Given the description of an element on the screen output the (x, y) to click on. 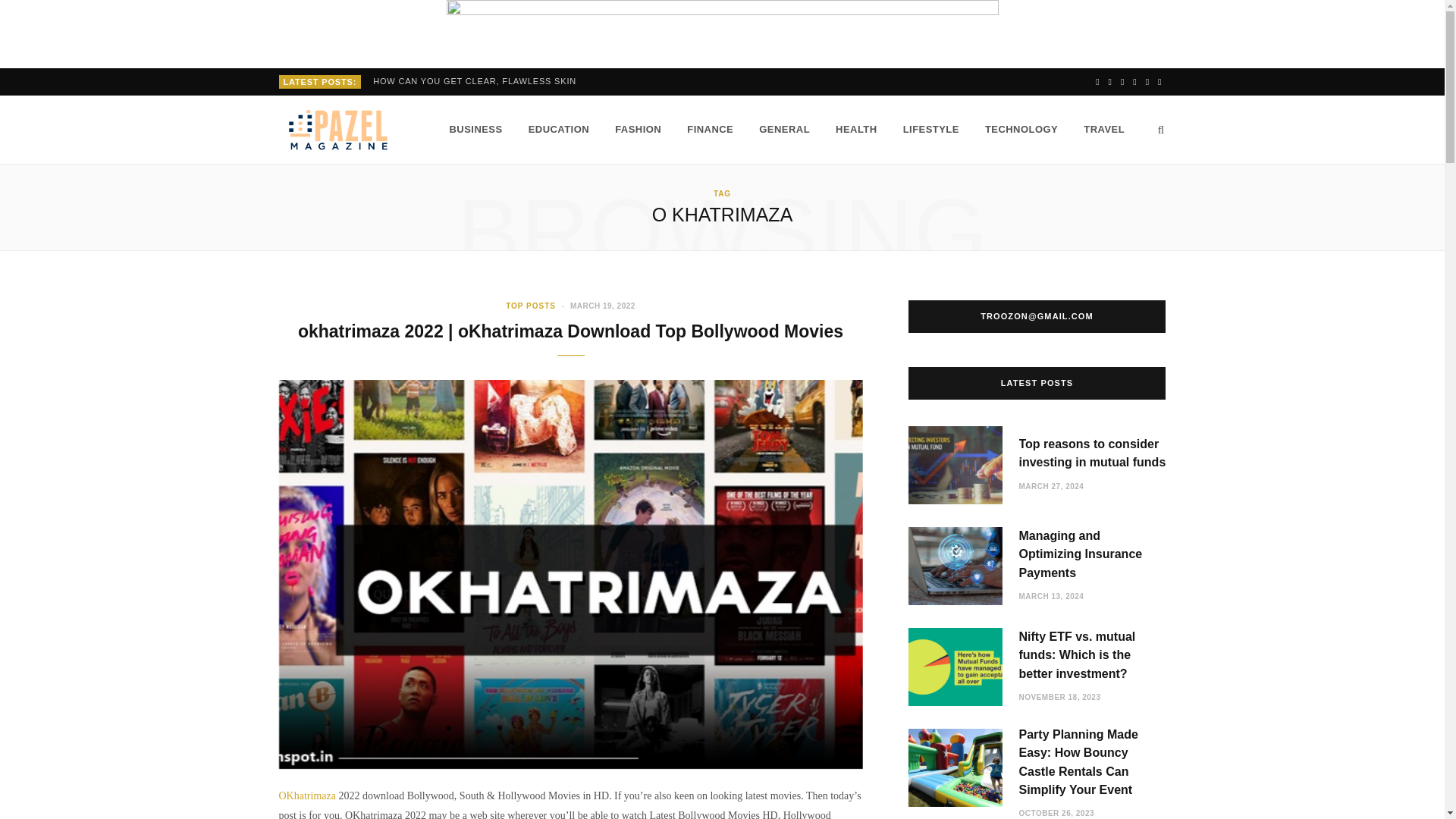
BUSINESS (475, 129)
TRAVEL (1103, 129)
LIFESTYLE (931, 129)
GENERAL (784, 129)
OKhatrimaza (307, 795)
TOP POSTS (530, 306)
HOW CAN YOU GET CLEAR, FLAWLESS SKIN (477, 81)
FASHION (638, 129)
TECHNOLOGY (1021, 129)
Pazel Magazine (339, 130)
FINANCE (709, 129)
EDUCATION (557, 129)
MARCH 19, 2022 (602, 306)
HEALTH (856, 129)
How Can You Get Clear, Flawless Skin (477, 81)
